Given the description of an element on the screen output the (x, y) to click on. 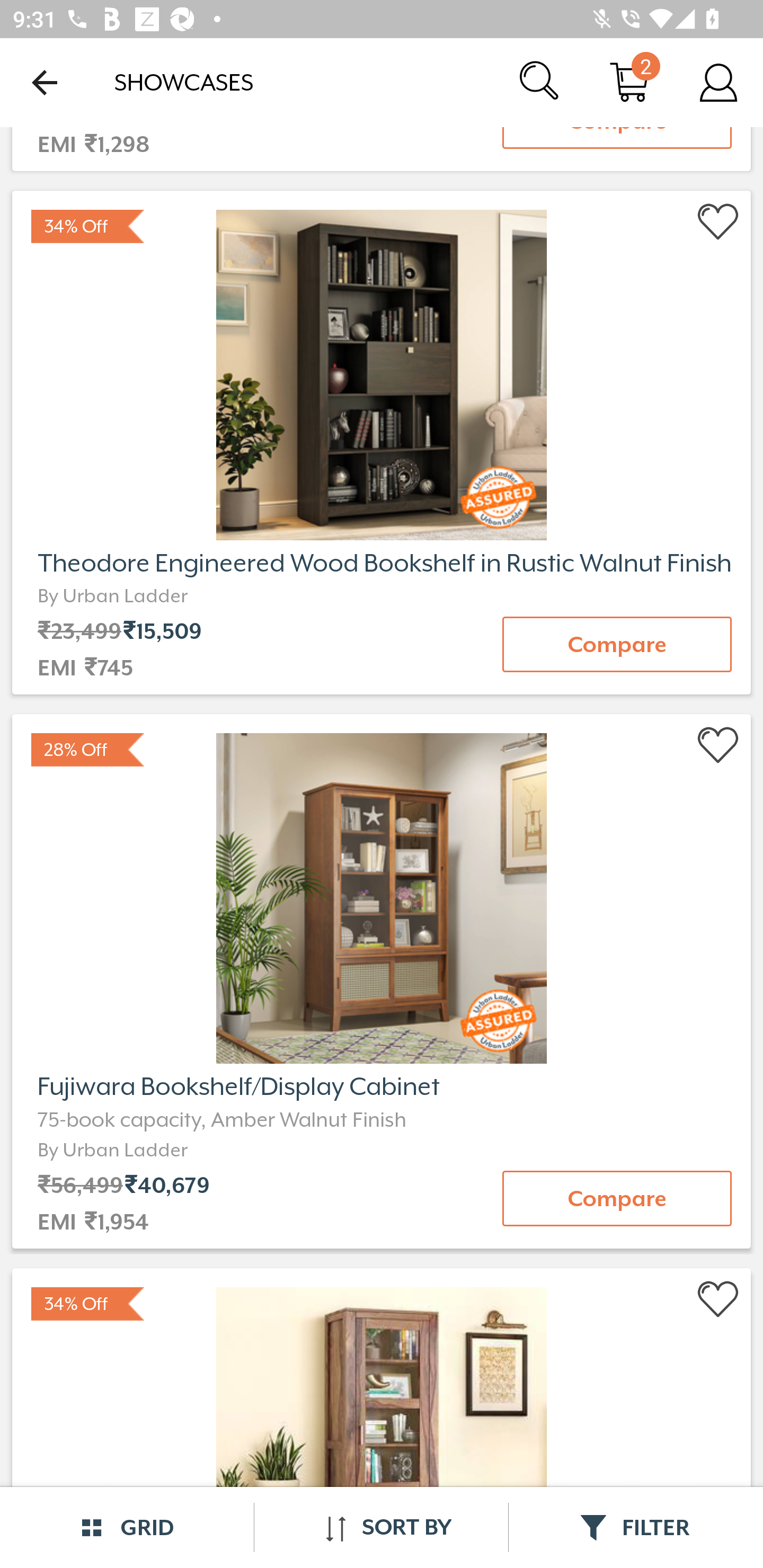
Navigate up (44, 82)
Search (540, 81)
Cart (629, 81)
Account Details (718, 81)
EMI ₹1,298 Compare (381, 152)
 (718, 222)
Compare (616, 644)
 (718, 745)
Compare (616, 1198)
 (718, 1299)
 GRID (127, 1527)
SORT BY (381, 1527)
 FILTER (635, 1527)
